Given the description of an element on the screen output the (x, y) to click on. 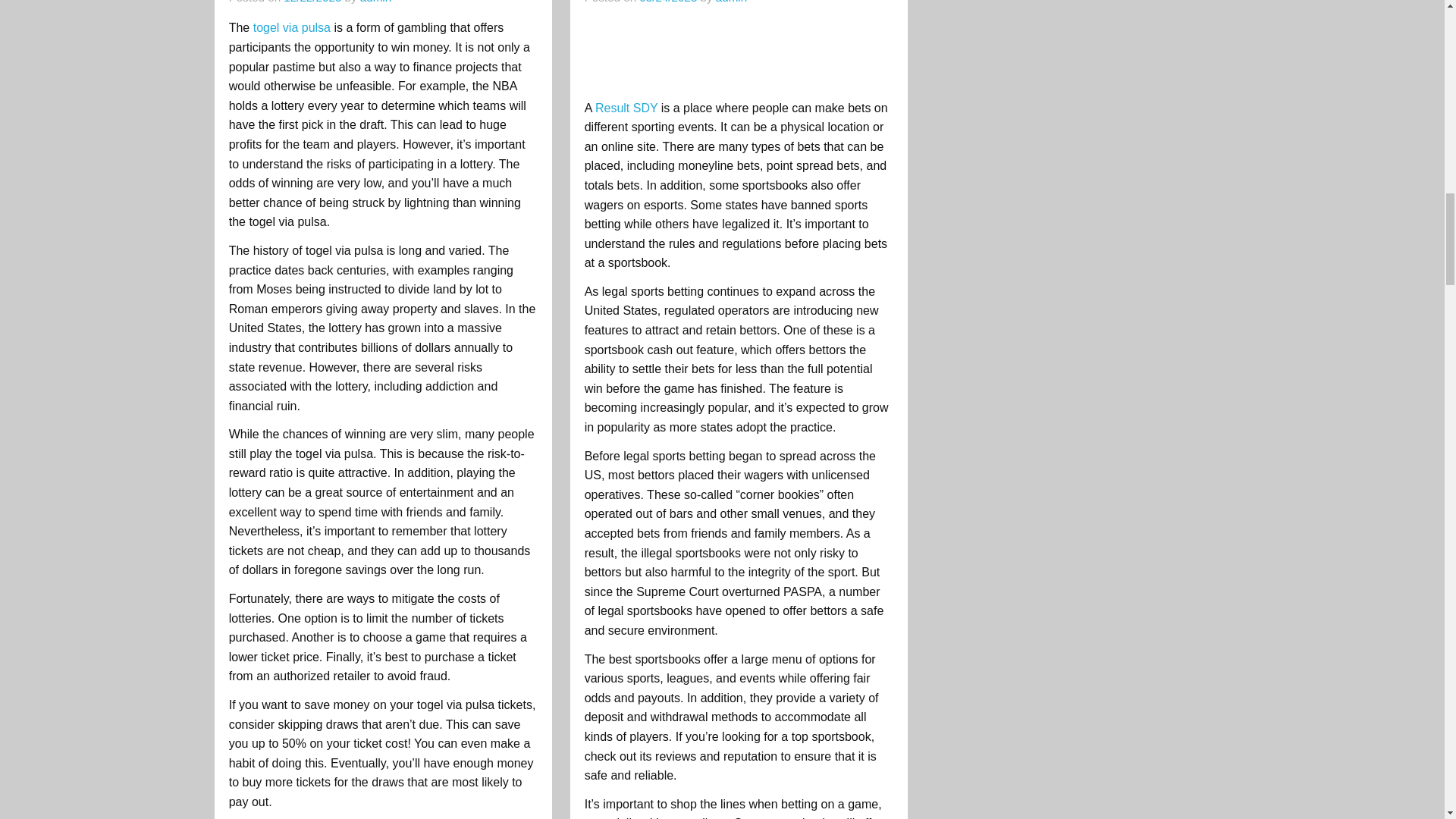
admin (375, 2)
Result SDY (626, 107)
View all posts by admin (731, 2)
togel via pulsa (293, 27)
View all posts by admin (375, 2)
8:50 AM (668, 2)
admin (731, 2)
5:19 PM (311, 2)
